Given the description of an element on the screen output the (x, y) to click on. 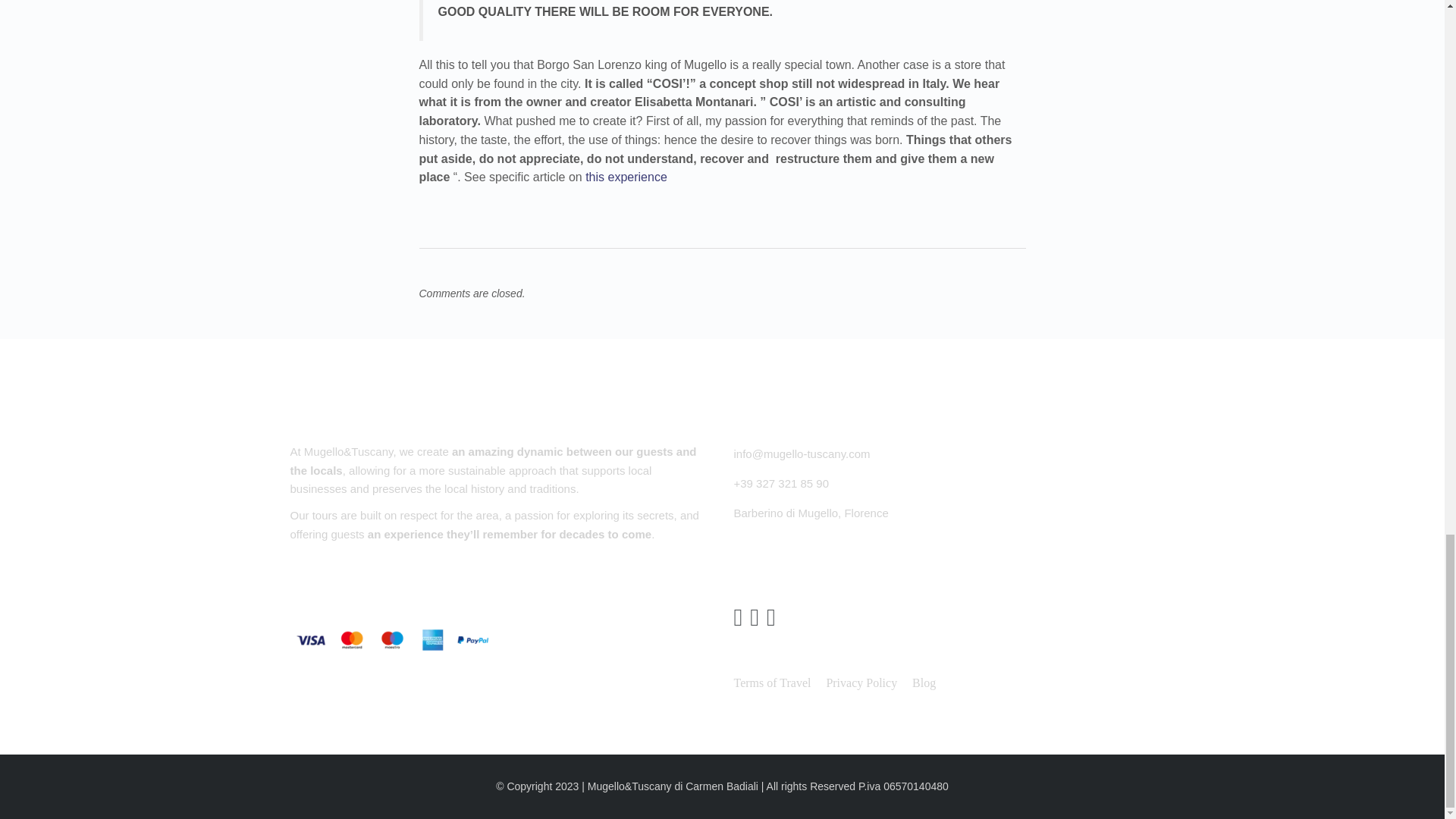
this experience (625, 176)
Terms of Travel (771, 683)
Barberino di Mugello, Florence (810, 512)
Privacy Policy (860, 683)
